Given the description of an element on the screen output the (x, y) to click on. 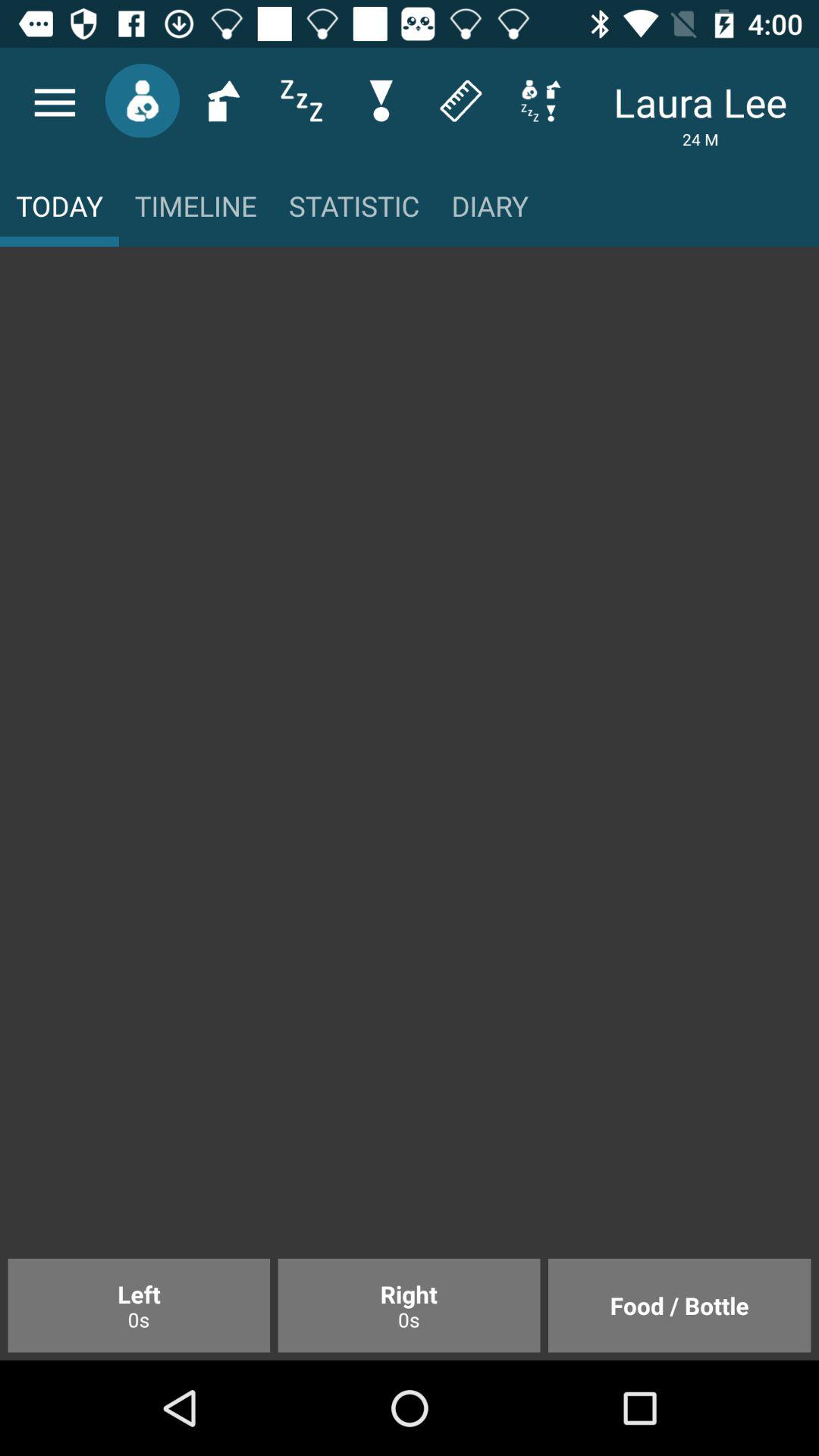
flip to the food / bottle item (679, 1305)
